Given the description of an element on the screen output the (x, y) to click on. 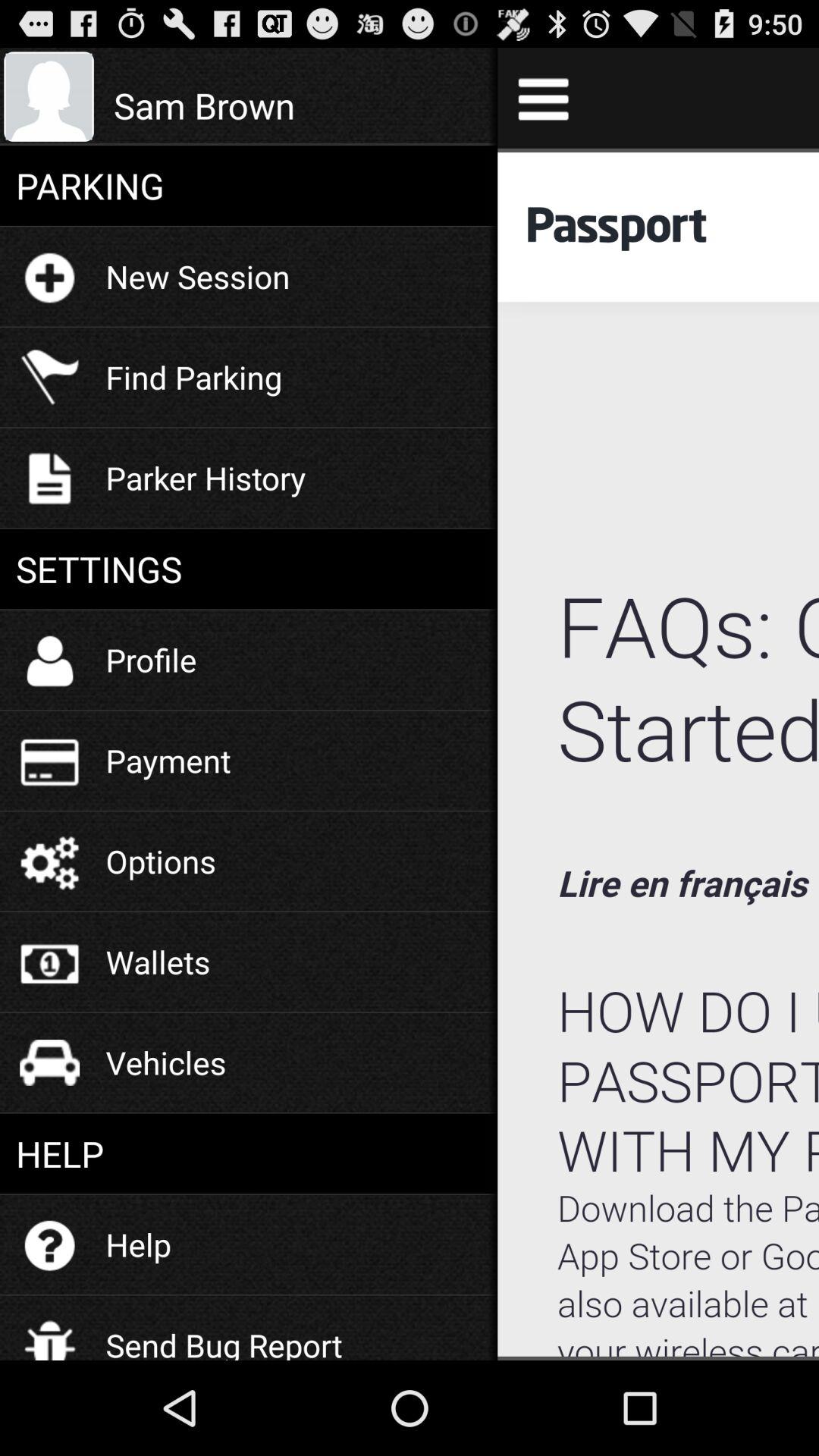
launch the icon above wallets item (160, 860)
